Given the description of an element on the screen output the (x, y) to click on. 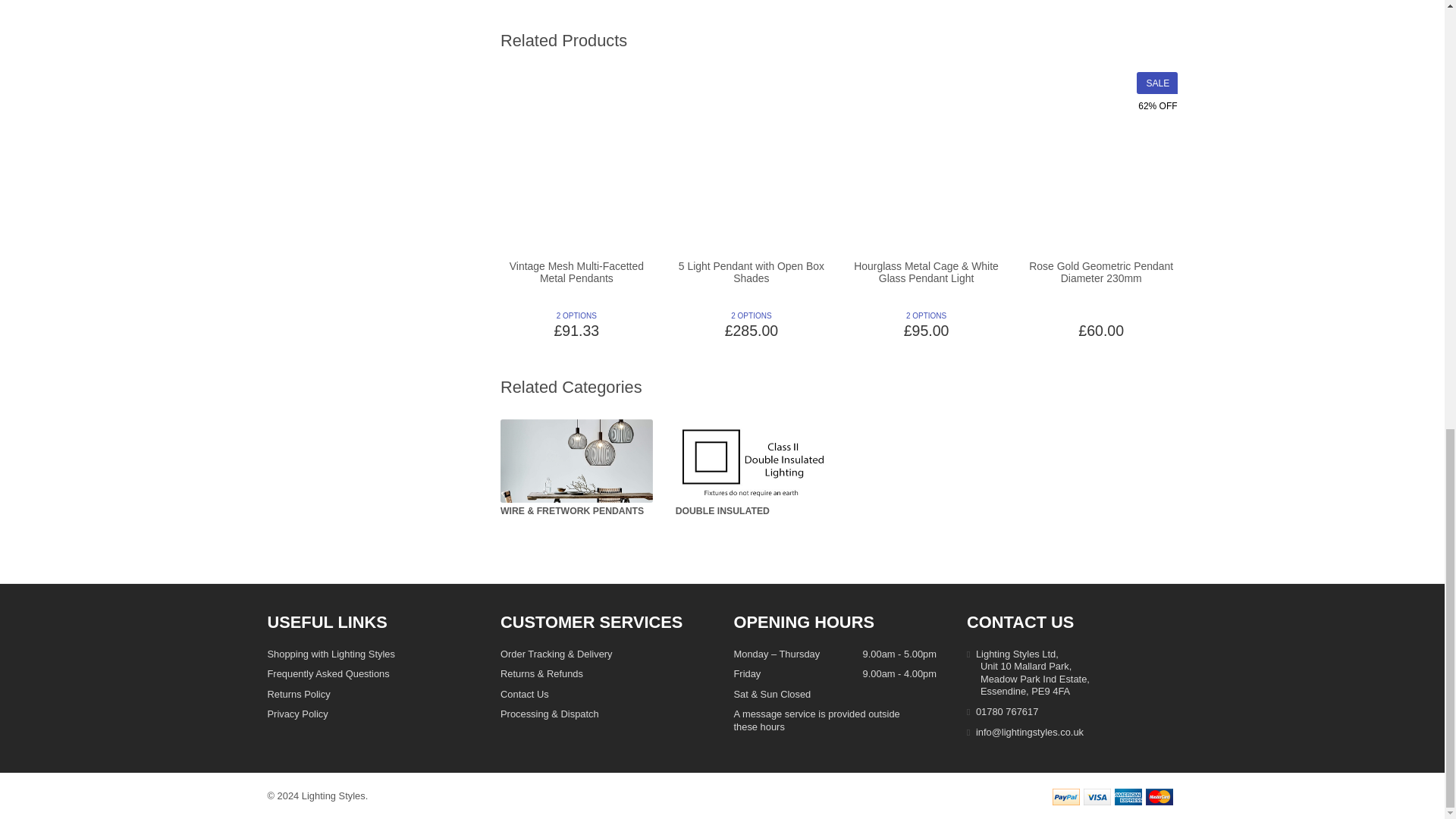
Rose Gold Geometric Pendant Diameter 230mm (1101, 36)
Double Insulated (751, 460)
Vintage Mesh Multi-Facetted Metal Pendants (576, 36)
5 Light Pendant with Open Box Shades (751, 36)
